Given the description of an element on the screen output the (x, y) to click on. 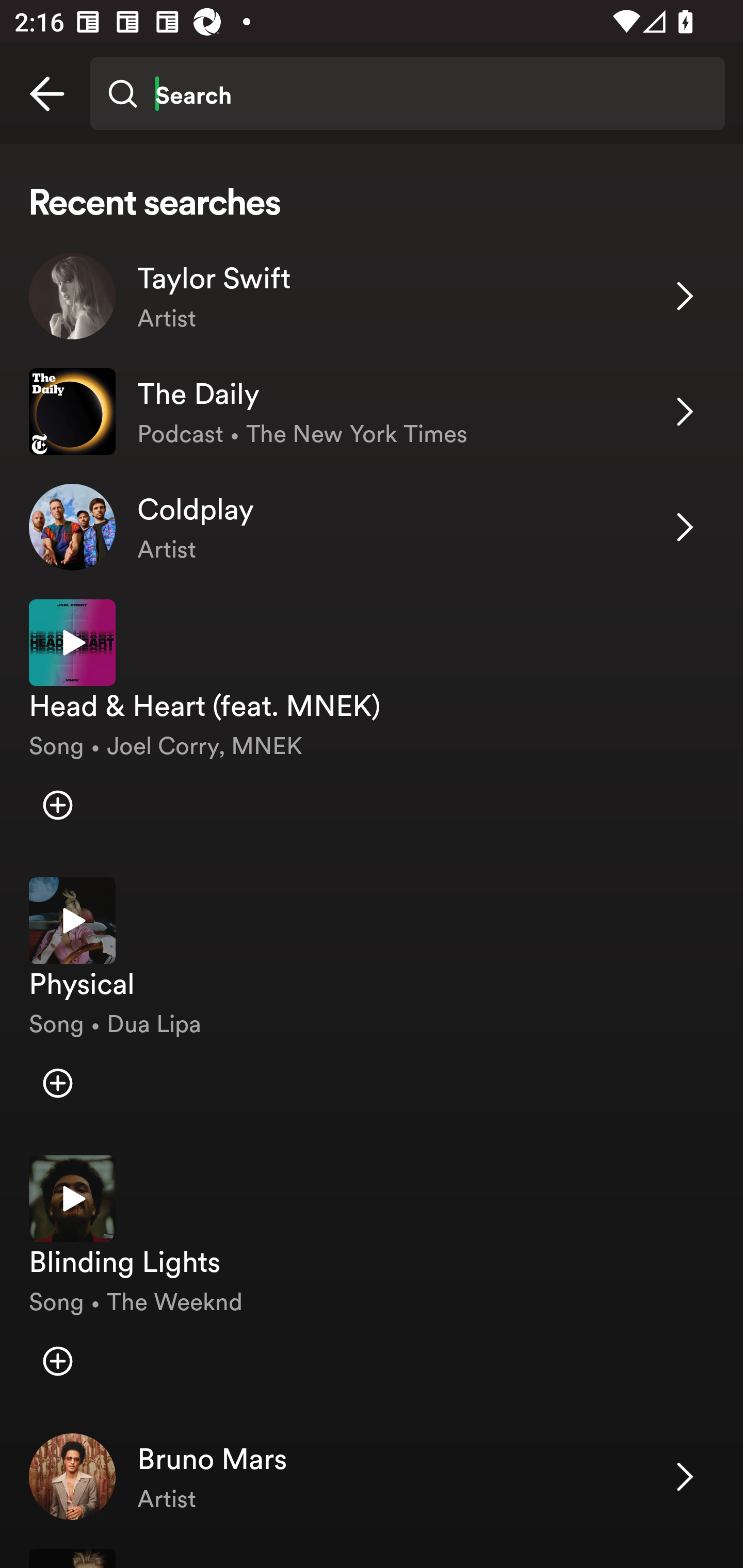
Back (46, 93)
Search (407, 94)
Taylor Swift Artist (371, 296)
The Daily Podcast • The New York Times (371, 411)
Coldplay Artist (371, 526)
Play preview (71, 642)
Add item (57, 805)
Play preview Physical Song • Dua Lipa Add item (371, 1001)
Play preview (71, 921)
Add item (57, 1082)
Play preview (71, 1198)
Add item (57, 1360)
Bruno Mars Artist (371, 1477)
